Given the description of an element on the screen output the (x, y) to click on. 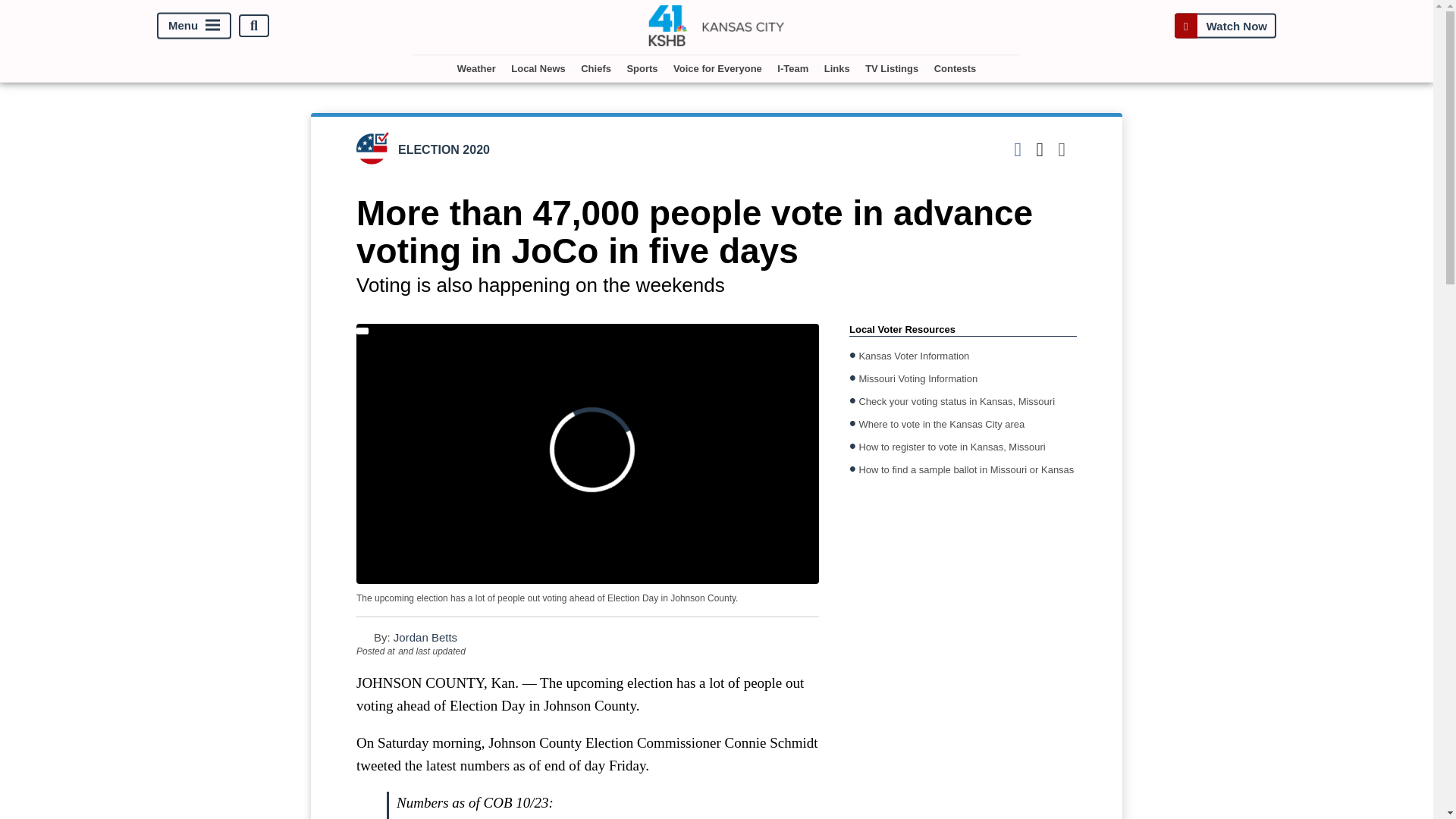
Watch Now (1224, 25)
Menu (194, 26)
